Given the description of an element on the screen output the (x, y) to click on. 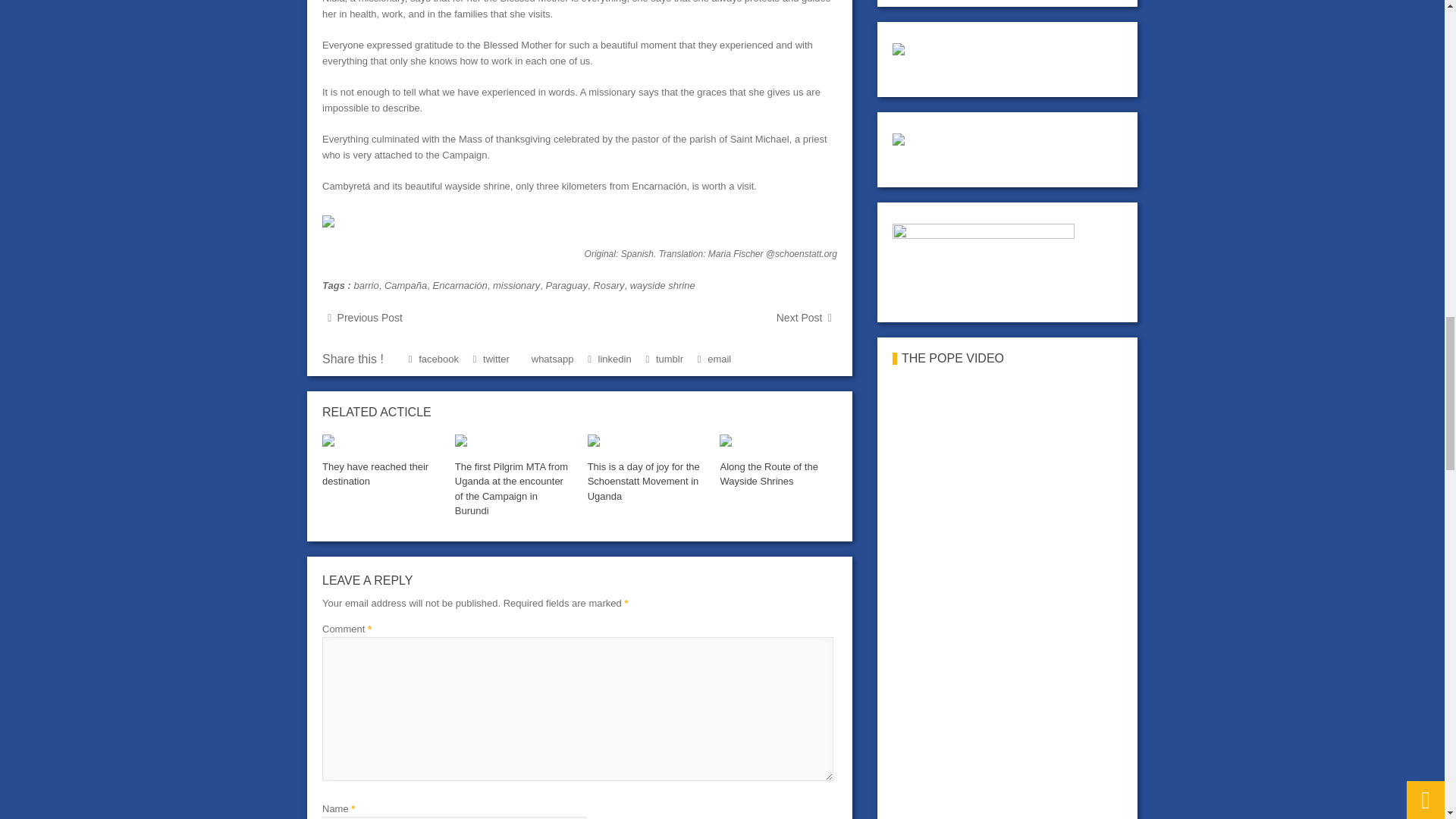
Along the Route of the Wayside Shrines (767, 474)
This is a day of joy for the Schoenstatt Movement in Uganda (646, 442)
This is a day of joy for the Schoenstatt Movement in Uganda (644, 481)
They have reached their destination (374, 474)
Along the Route of the Wayside Shrines (777, 442)
They have reached their destination (380, 442)
